Given the description of an element on the screen output the (x, y) to click on. 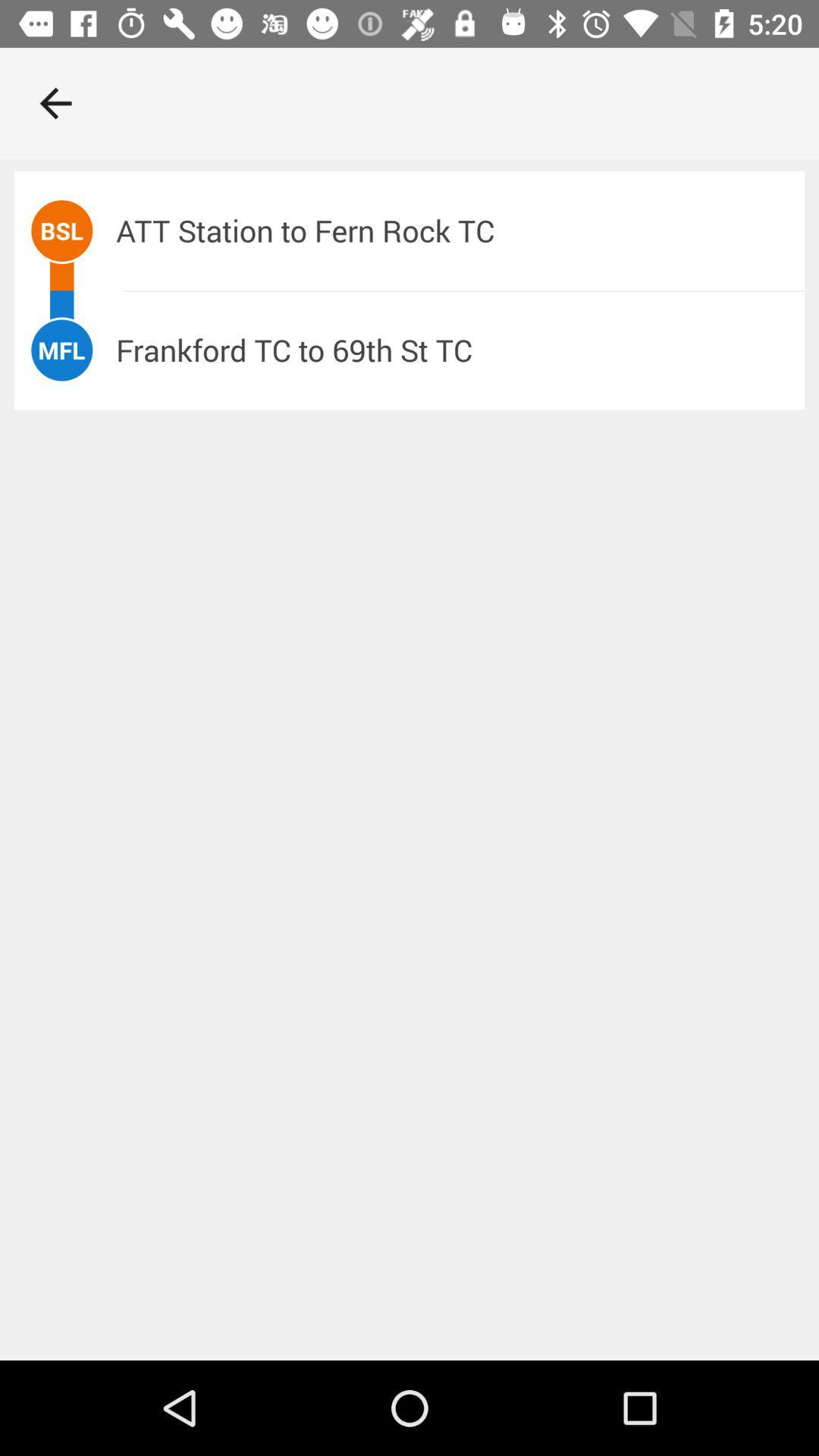
select icon to the left of the frankford tc to icon (61, 349)
